Given the description of an element on the screen output the (x, y) to click on. 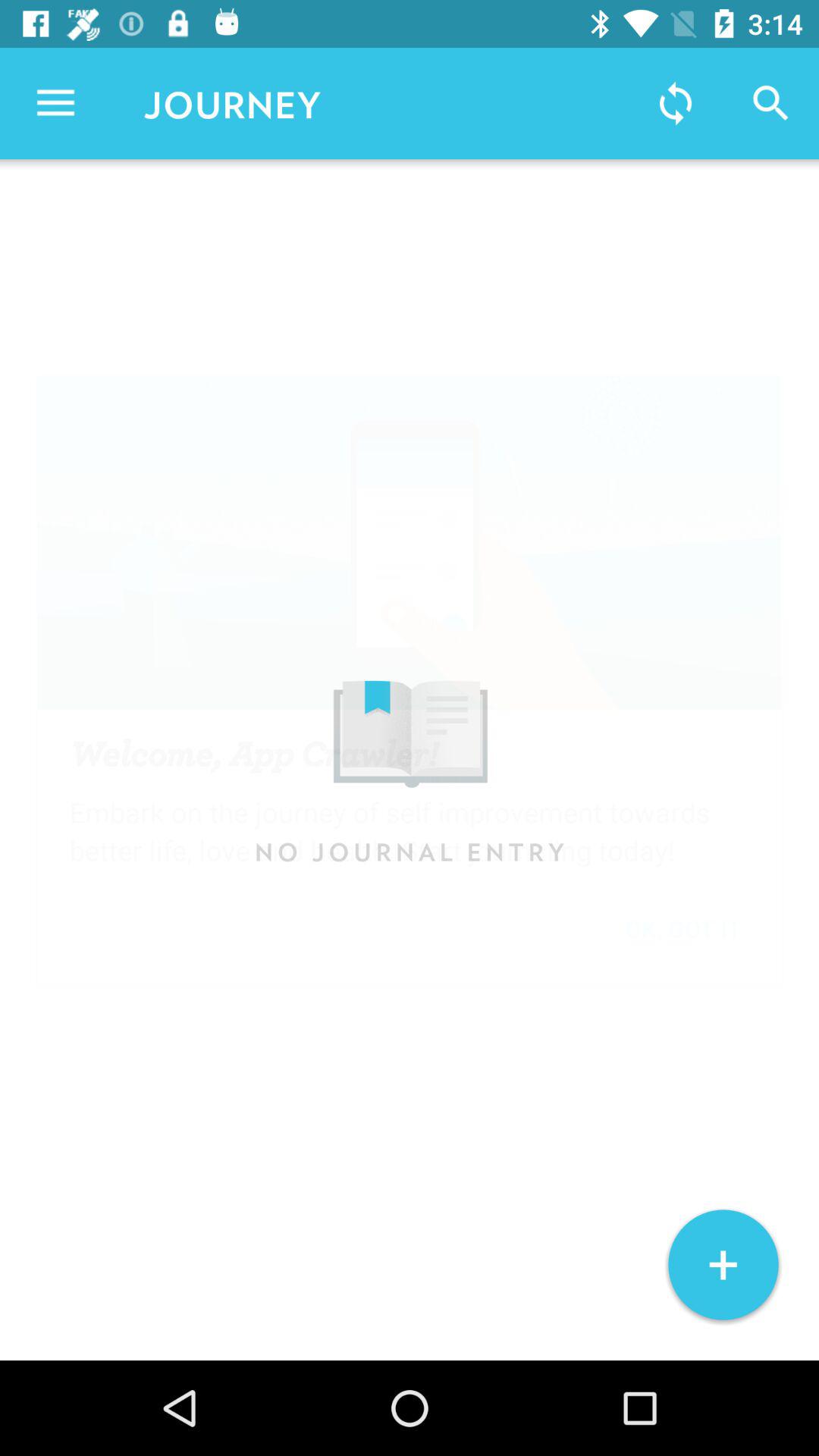
click + item (723, 1264)
